Given the description of an element on the screen output the (x, y) to click on. 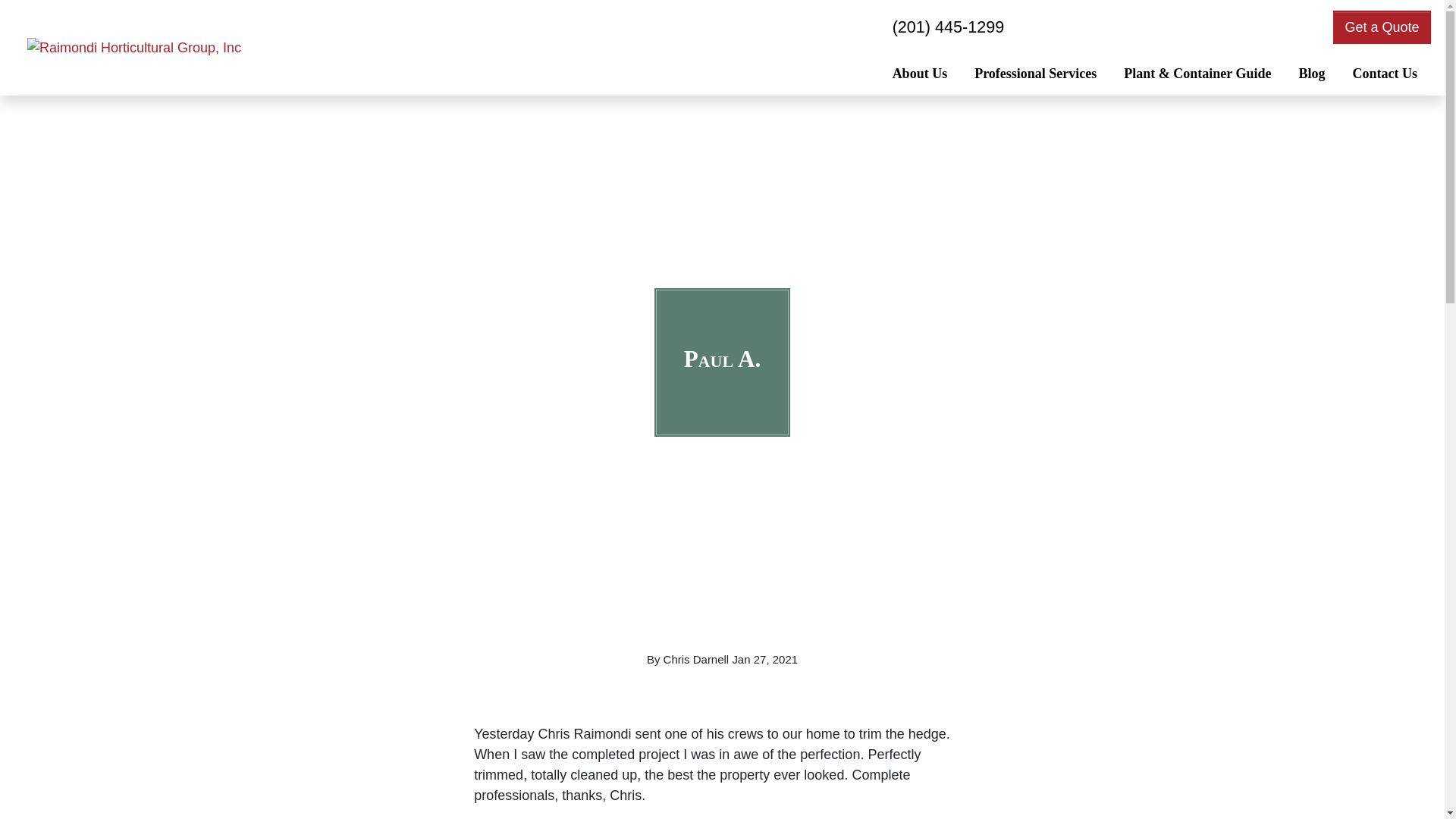
Blog (1311, 74)
About Us (919, 74)
Professional Services (1034, 74)
Get a Quote (1382, 27)
Contact Us (1385, 74)
